Given the description of an element on the screen output the (x, y) to click on. 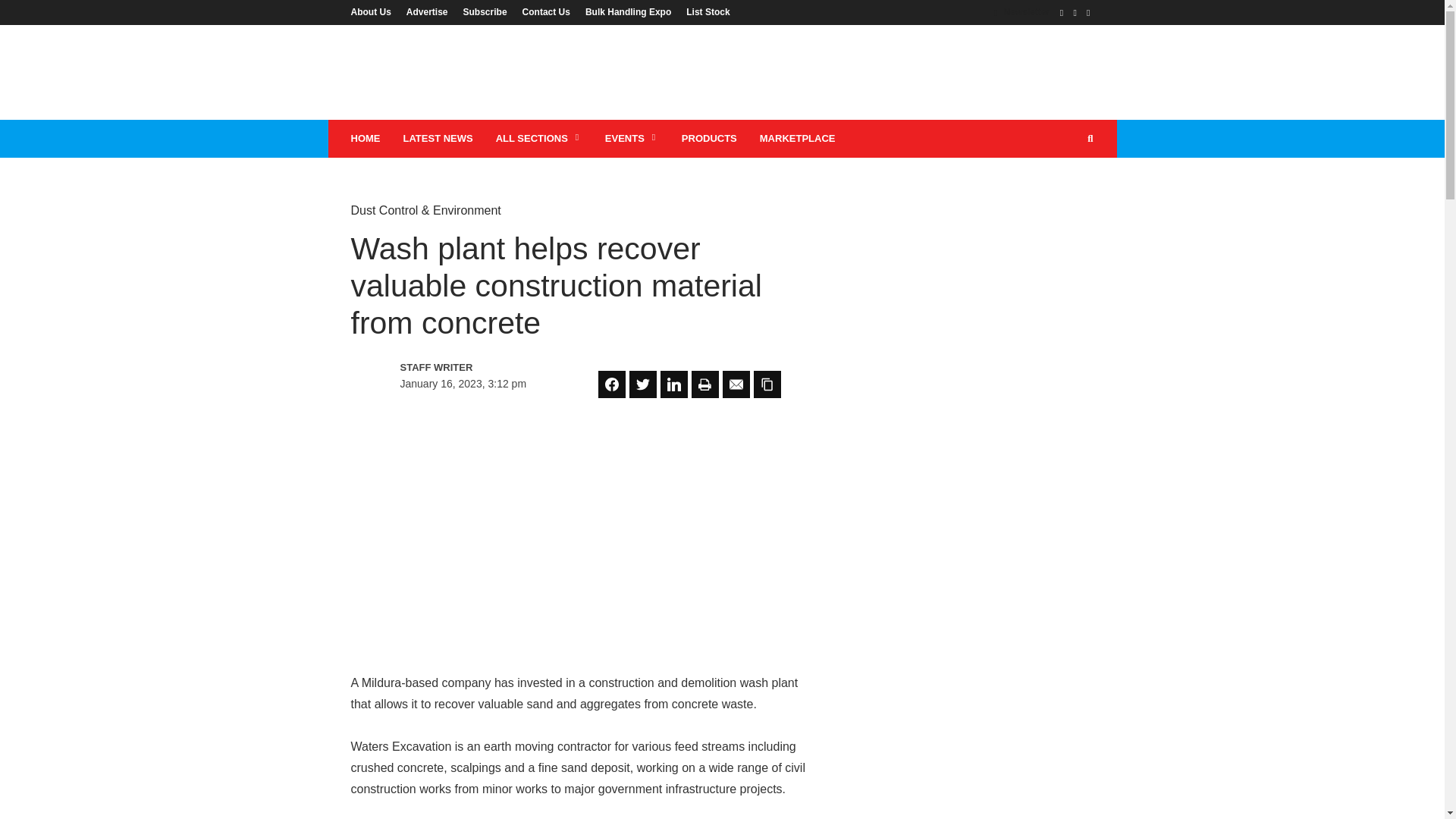
Contact Us (546, 11)
List Stock (703, 11)
Newsletter (1021, 11)
Share on LinkedIn (674, 384)
ALL SECTIONS (539, 138)
Share on Copy Link (767, 384)
HOME (365, 138)
Bulk Handling Expo (628, 11)
Share on Facebook (612, 384)
Subscribe (485, 11)
Share on Print (705, 384)
View all posts by Staff Writer (465, 367)
Share on Email (735, 384)
About Us (373, 11)
LATEST NEWS (437, 138)
